Given the description of an element on the screen output the (x, y) to click on. 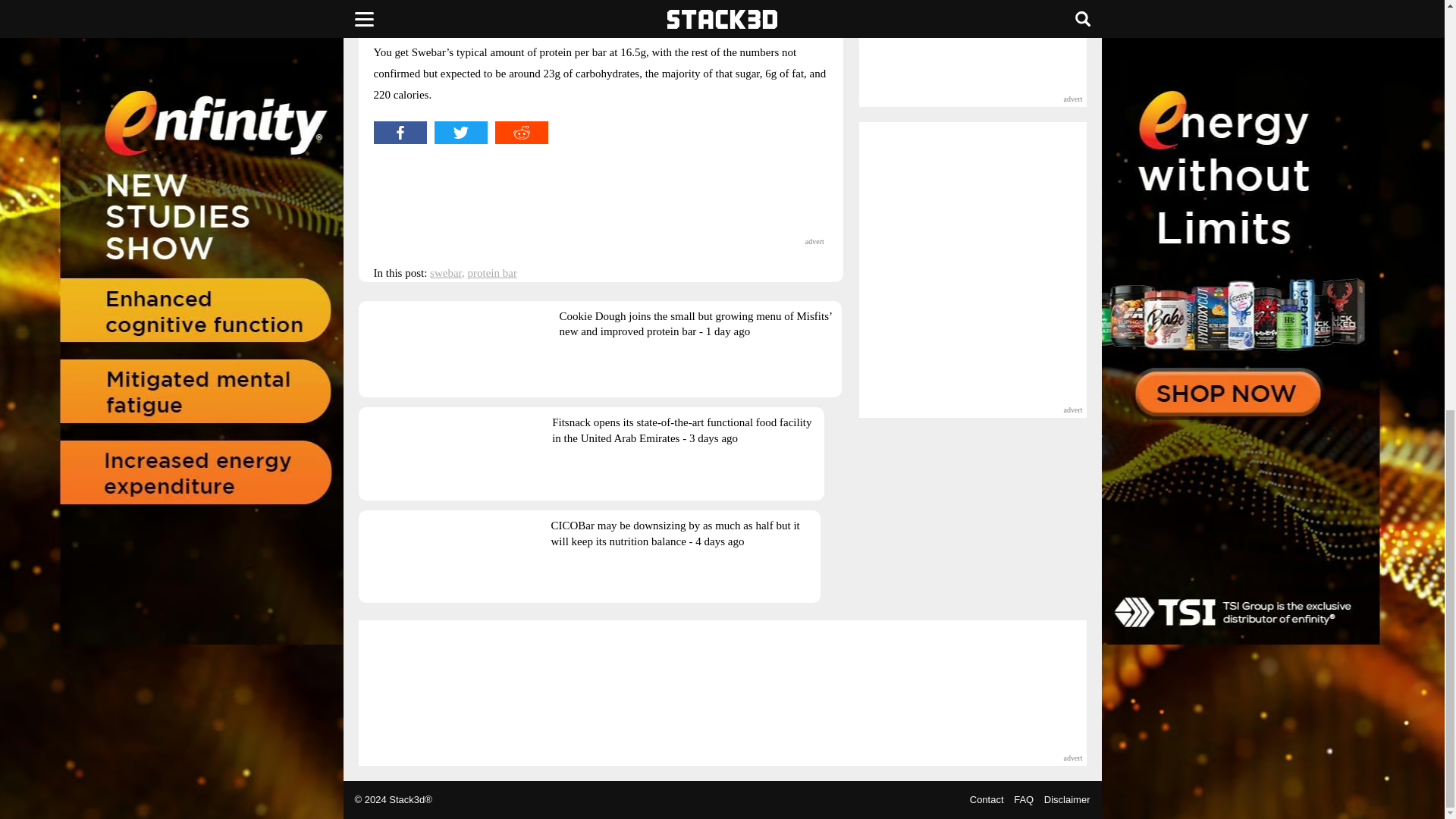
protein bar (491, 272)
swebar (445, 272)
